Given the description of an element on the screen output the (x, y) to click on. 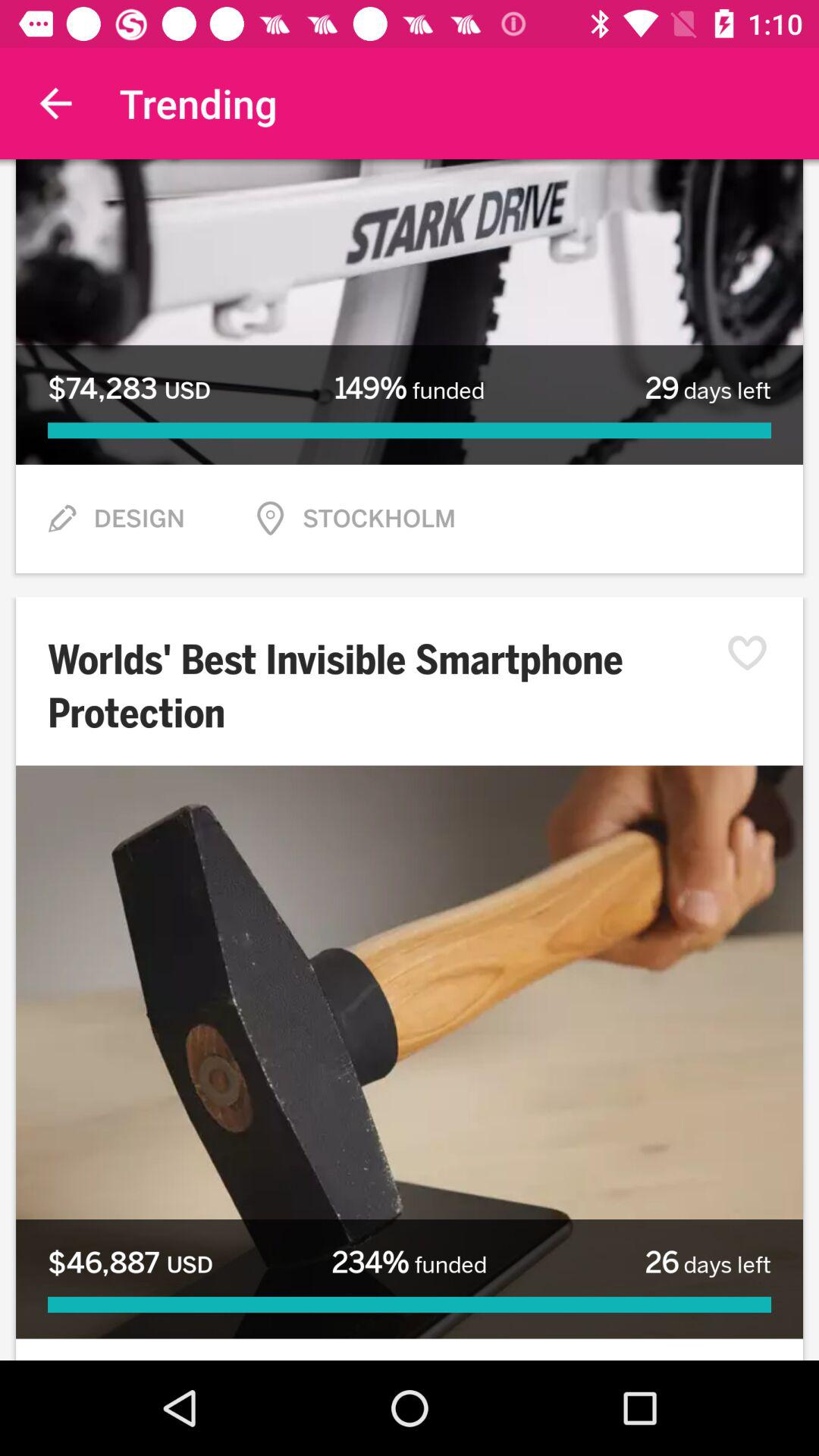
open item next to the $74,283 usd (409, 388)
